Given the description of an element on the screen output the (x, y) to click on. 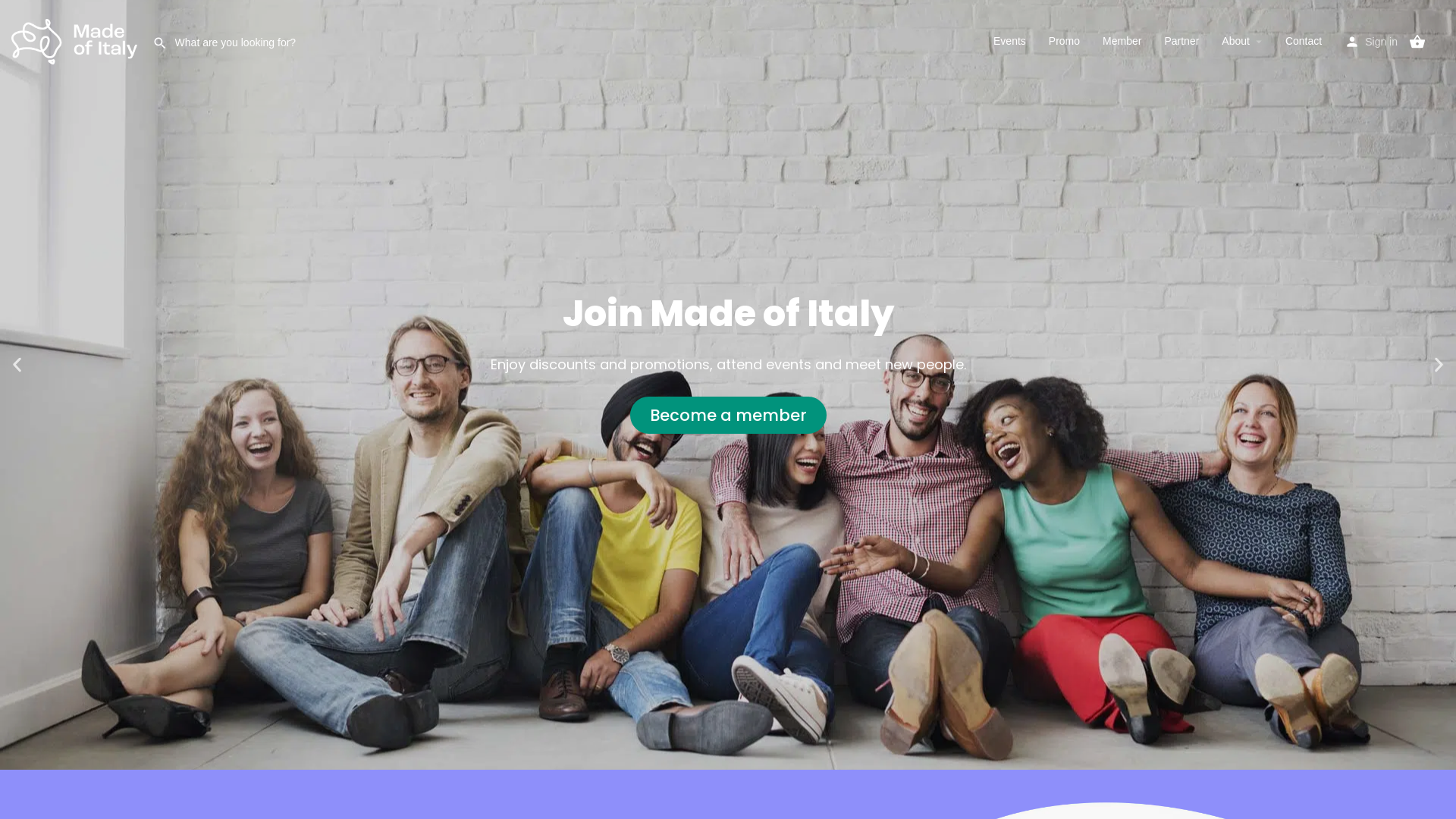
Contact Element type: text (1303, 40)
Promo Element type: text (1063, 40)
About Element type: text (1235, 40)
Events Element type: text (1009, 40)
Partner Element type: text (1181, 40)
Sign in Element type: text (1381, 40)
View your shopping cart Element type: hover (1416, 41)
Member Element type: text (1121, 40)
